Given the description of an element on the screen output the (x, y) to click on. 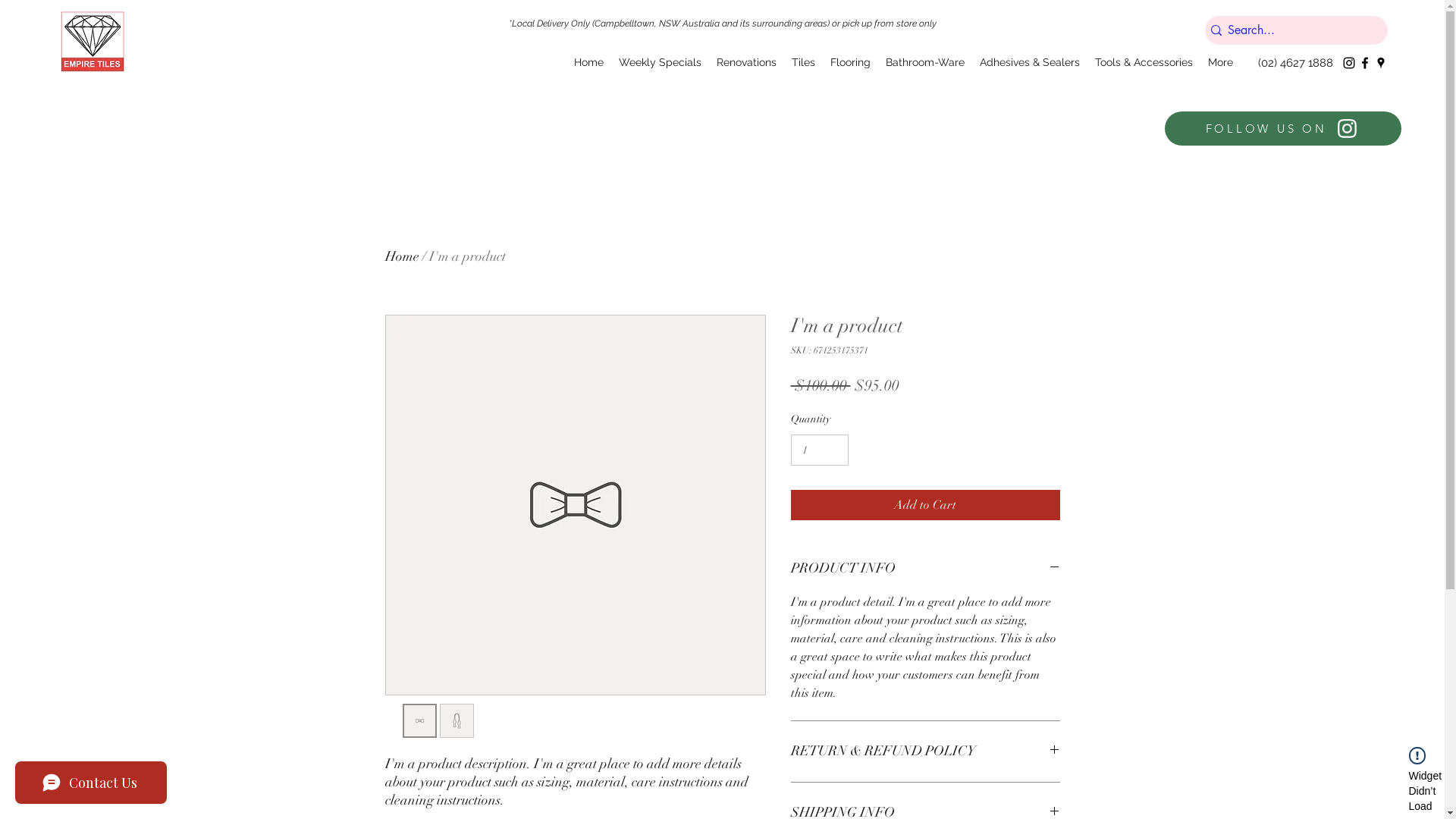
Renovations Element type: text (746, 61)
Weekly Specials Element type: text (660, 61)
Home Element type: text (402, 255)
Add to Cart Element type: text (924, 504)
FOLLOW US ON Element type: text (1282, 128)
PRODUCT INFO Element type: text (924, 568)
RETURN & REFUND POLICY Element type: text (924, 751)
Tiles Element type: text (803, 61)
Adhesives & Sealers Element type: text (1029, 61)
Bathroom-Ware Element type: text (925, 61)
Flooring Element type: text (850, 61)
I'm a product Element type: text (467, 255)
Tools & Accessories Element type: text (1143, 61)
Home Element type: text (588, 61)
